Given the description of an element on the screen output the (x, y) to click on. 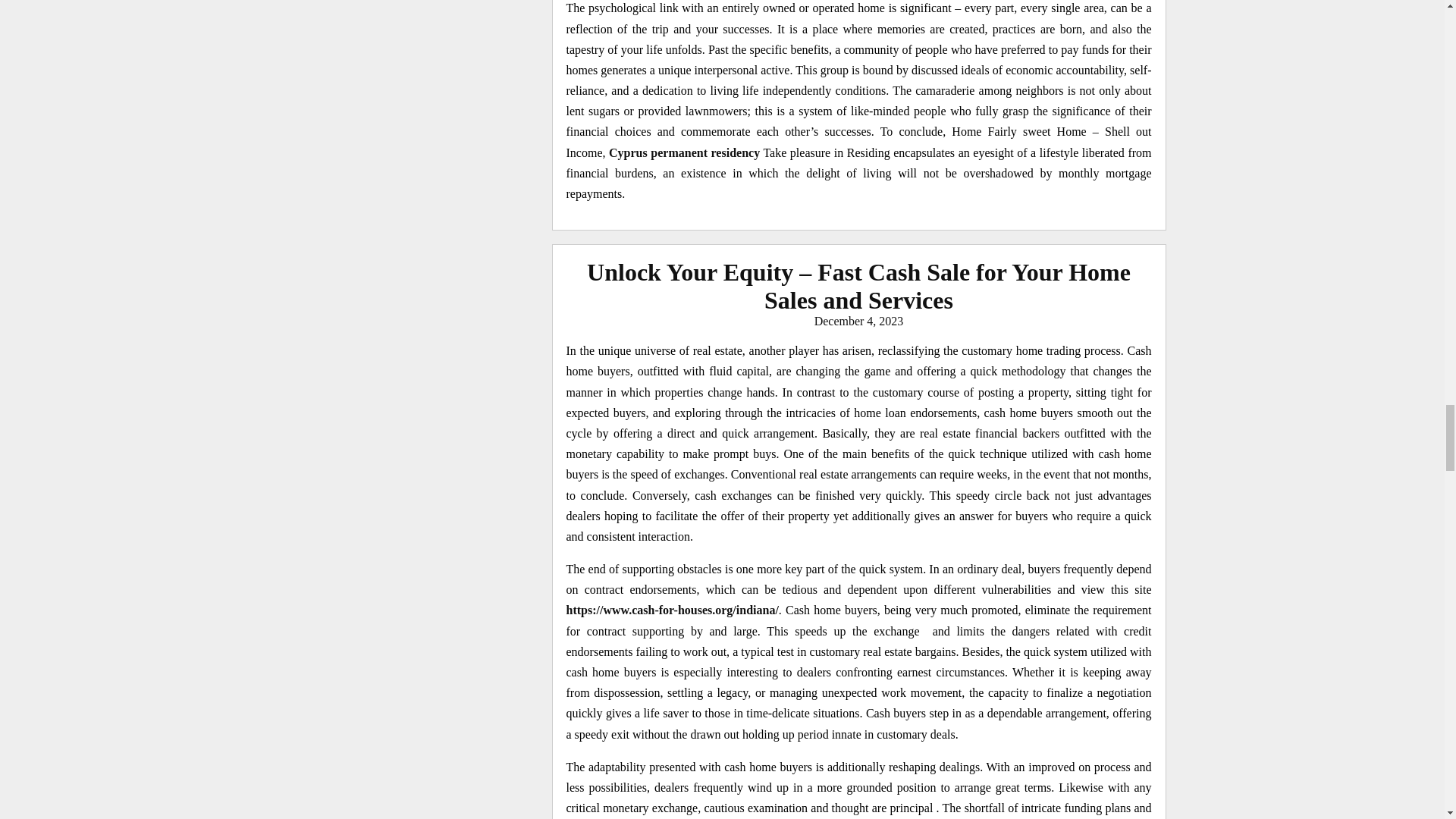
December 4, 2023 (858, 320)
Cyprus permanent residency (684, 152)
